Given the description of an element on the screen output the (x, y) to click on. 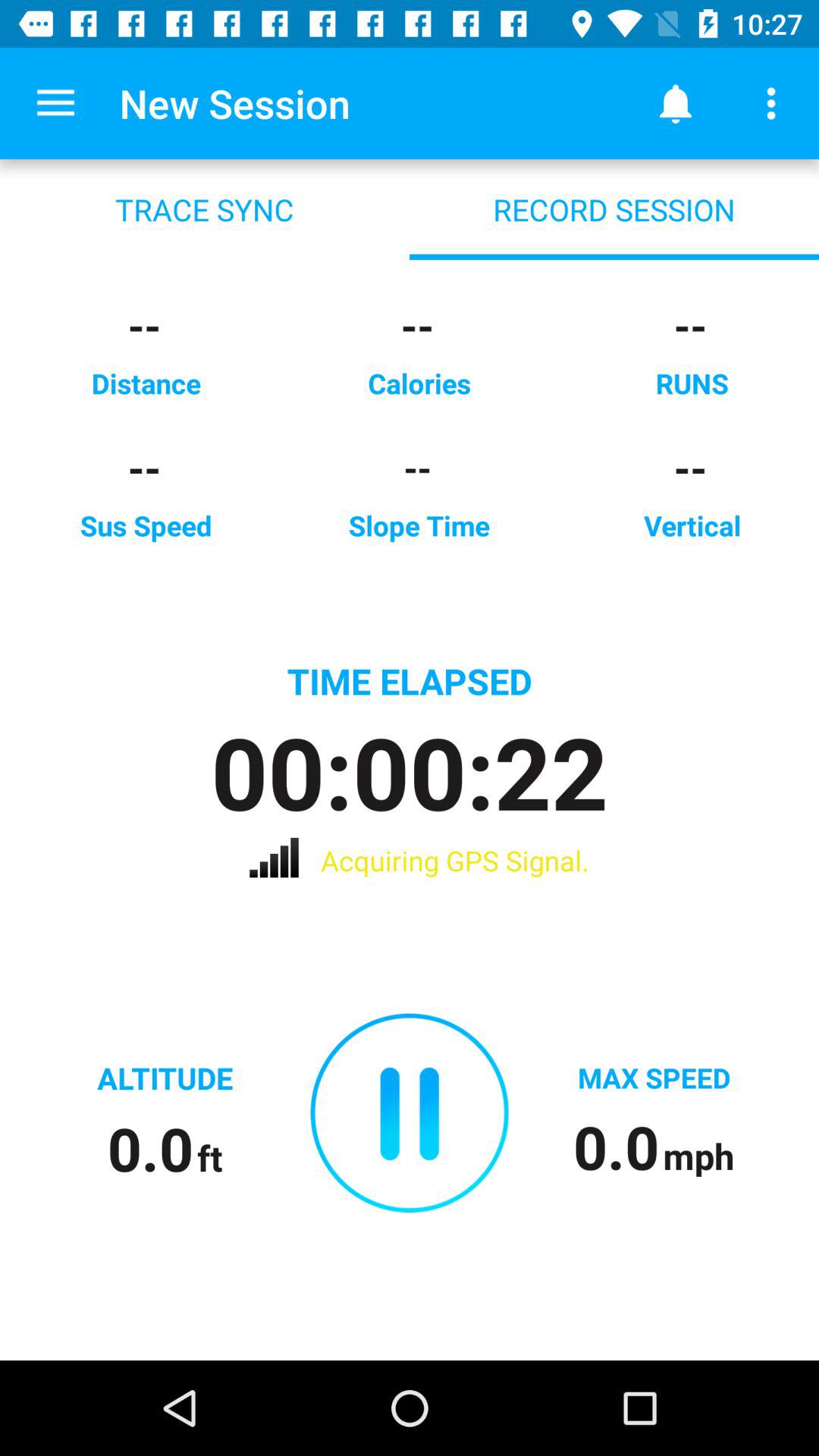
turn on the app to the left of new session icon (55, 103)
